Given the description of an element on the screen output the (x, y) to click on. 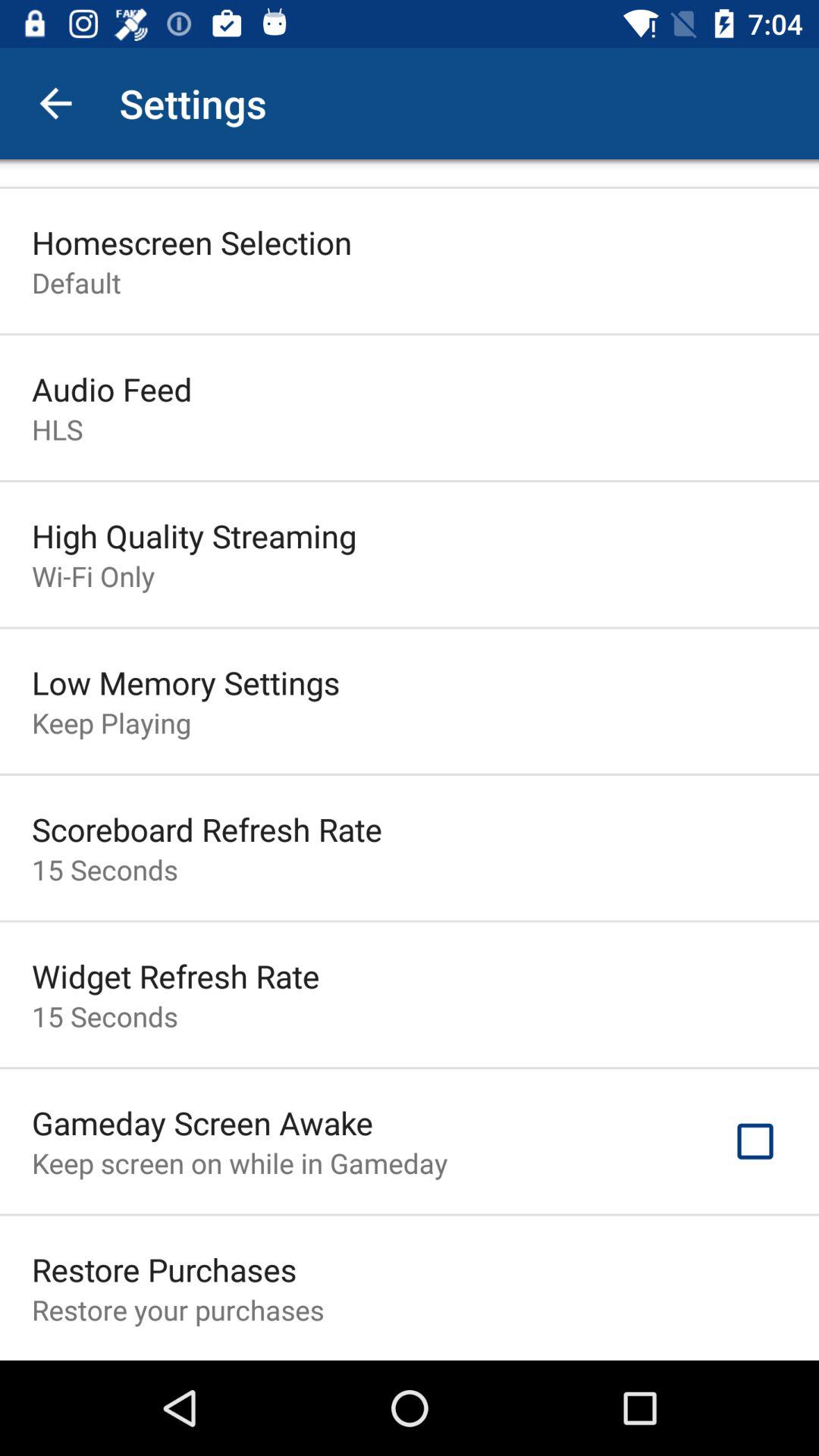
open the default item (76, 282)
